Given the description of an element on the screen output the (x, y) to click on. 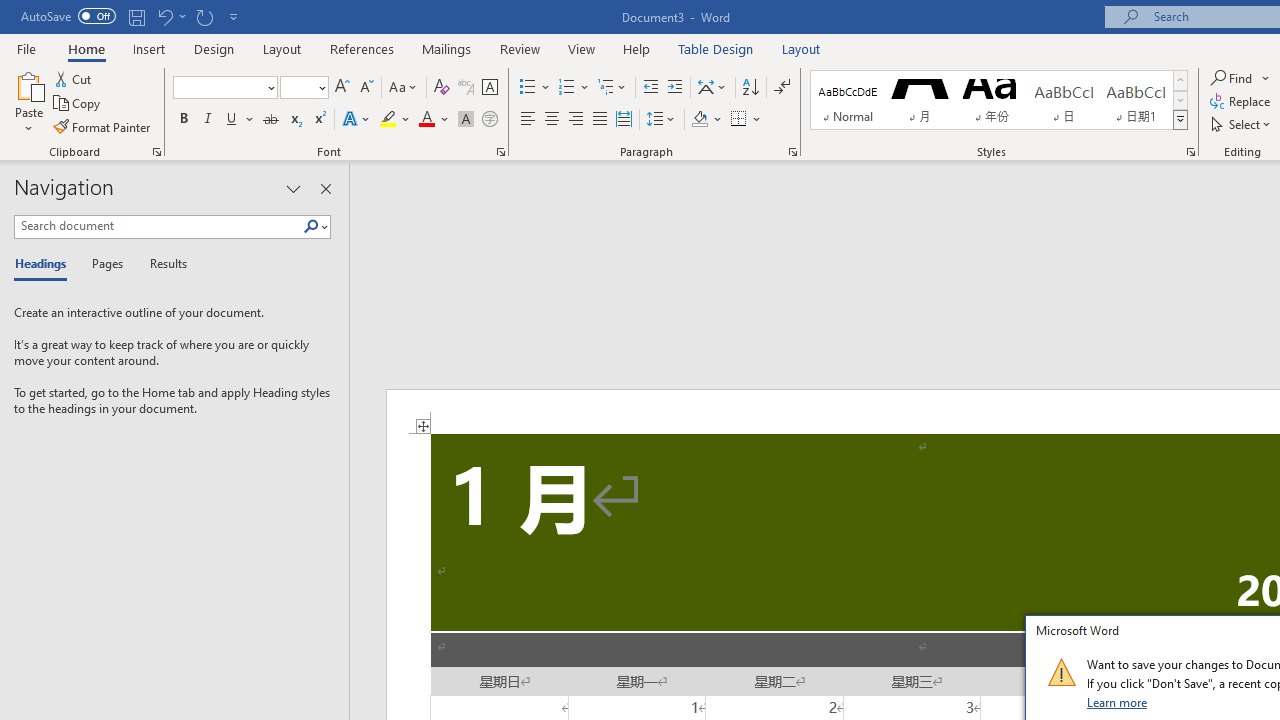
Distributed (623, 119)
Character Shading (465, 119)
Cut (73, 78)
Sort... (750, 87)
Multilevel List (613, 87)
